Given the description of an element on the screen output the (x, y) to click on. 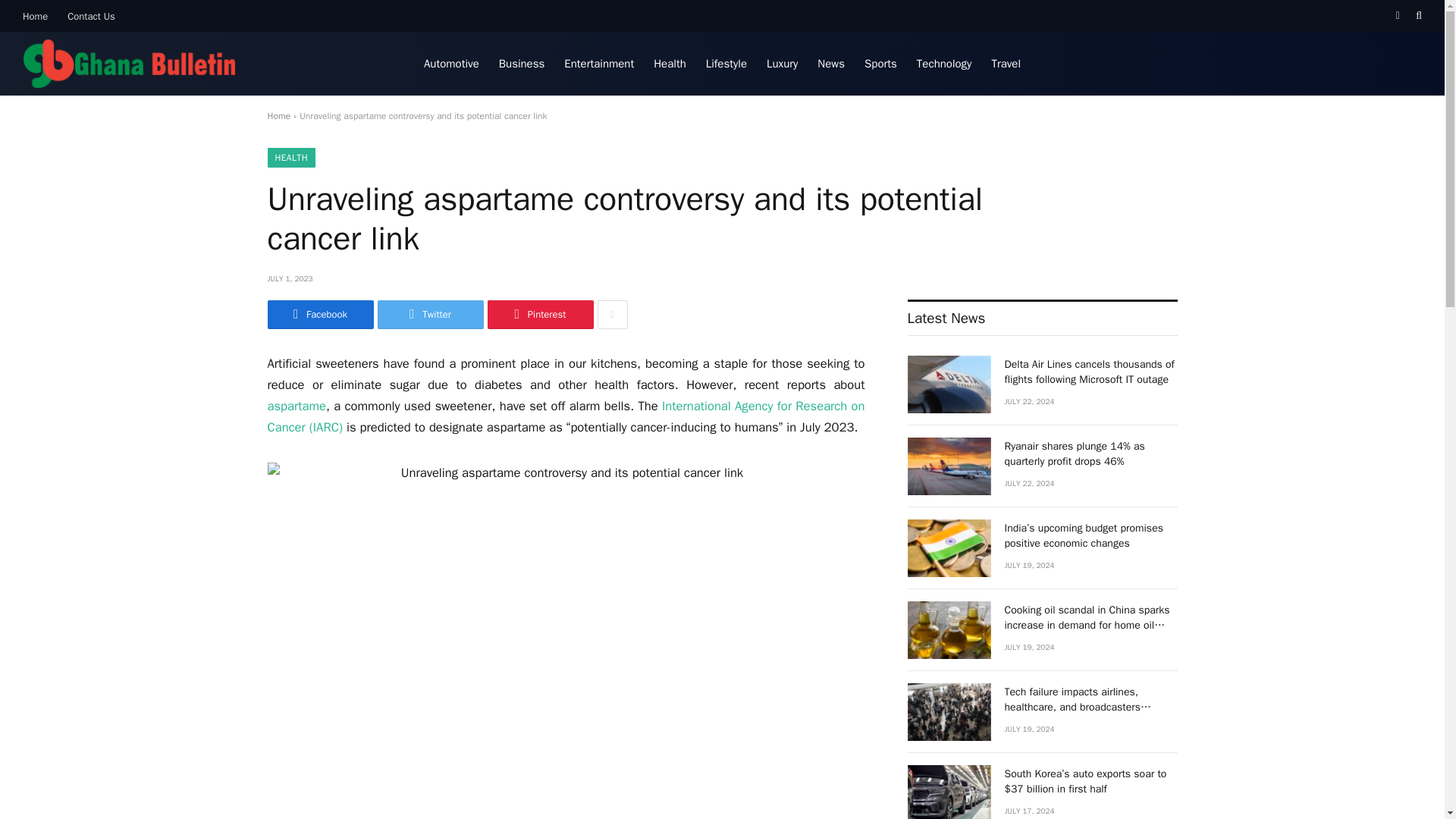
Twitter (430, 314)
Lifestyle (726, 63)
HEALTH (290, 157)
Home (277, 115)
Business (521, 63)
Contact Us (91, 15)
Technology (944, 63)
Switch to Dark Design - easier on eyes. (1397, 15)
Home (35, 15)
Share on Pinterest (539, 314)
Entertainment (598, 63)
Automotive (451, 63)
aspartame (296, 406)
Pinterest (539, 314)
Ghana Bulletin (129, 63)
